Given the description of an element on the screen output the (x, y) to click on. 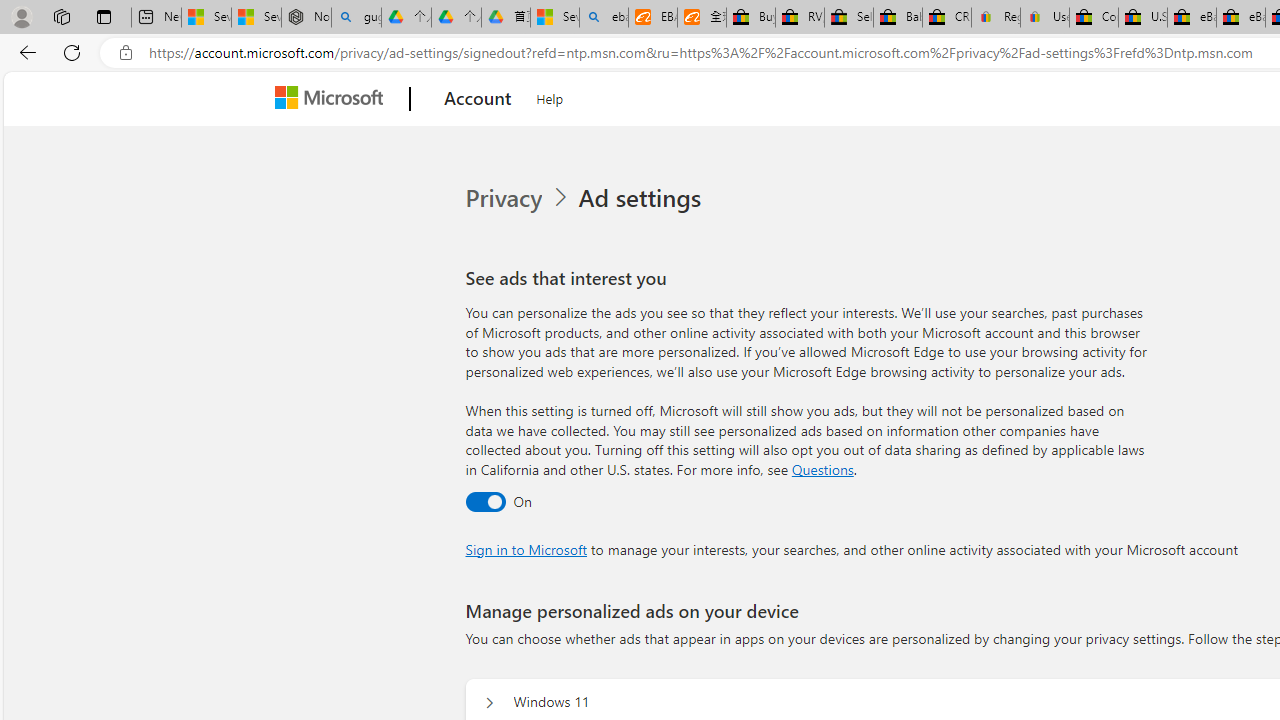
RV, Trailer & Camper Steps & Ladders for sale | eBay (799, 17)
Ad settings (643, 197)
Register: Create a personal eBay account (995, 17)
